Given the description of an element on the screen output the (x, y) to click on. 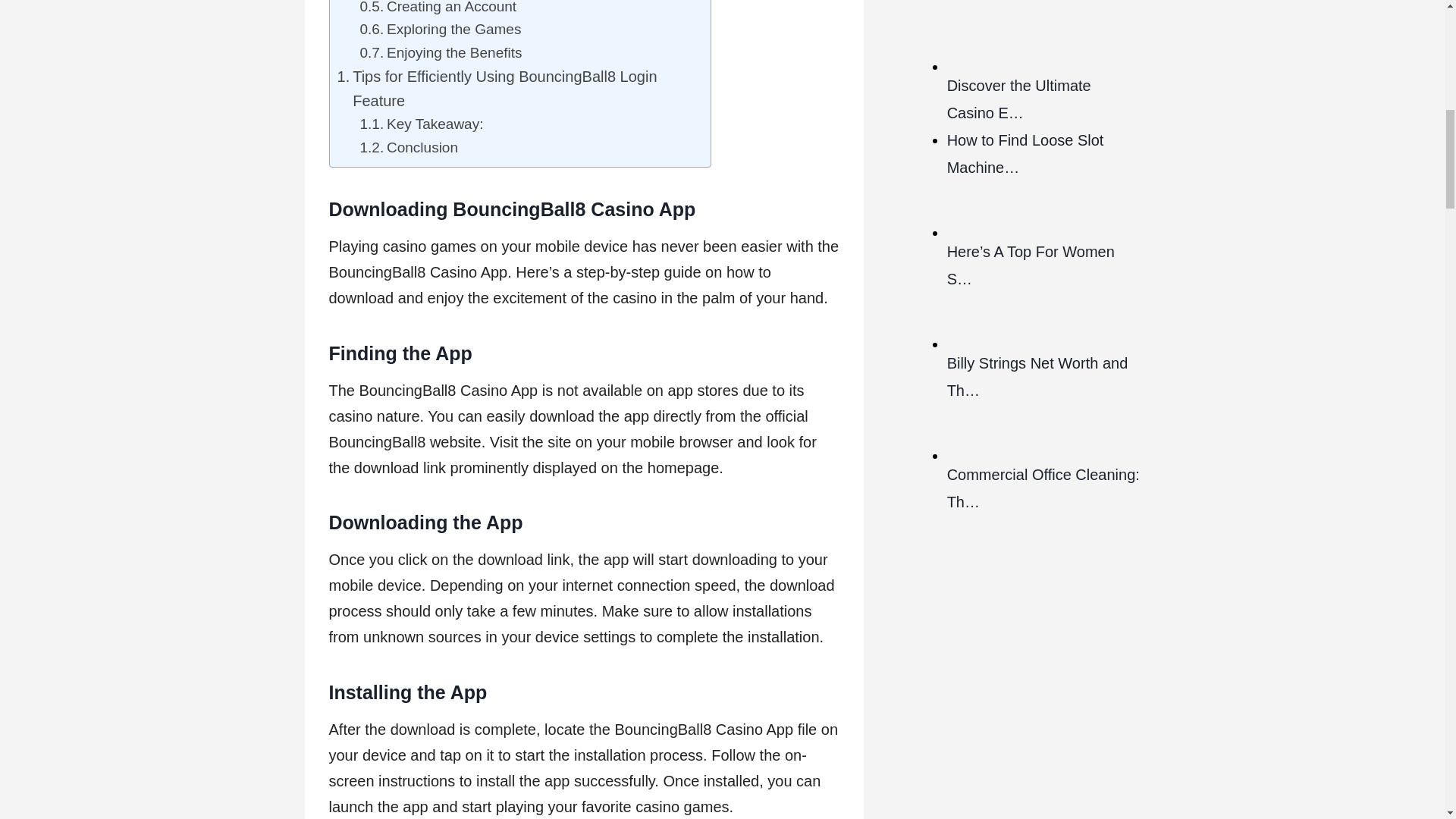
Creating an Account (437, 9)
Enjoying the Benefits (440, 52)
Exploring the Games (440, 29)
Key Takeaway: (421, 124)
Tips for Efficiently Using BouncingBall8 Login Feature (515, 88)
Conclusion (408, 147)
